Given the description of an element on the screen output the (x, y) to click on. 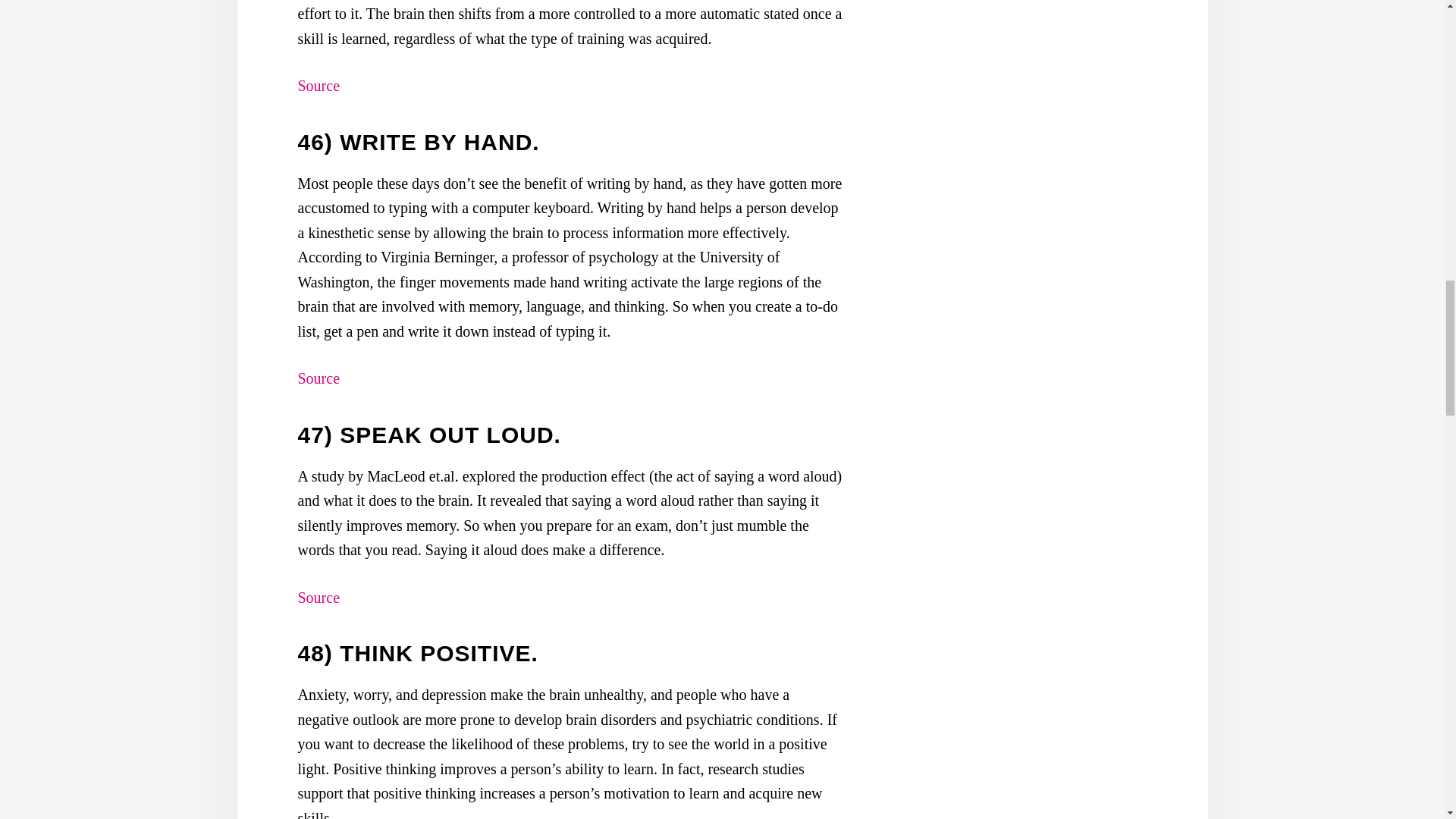
Source (318, 85)
Source (318, 597)
Source (318, 378)
